Given the description of an element on the screen output the (x, y) to click on. 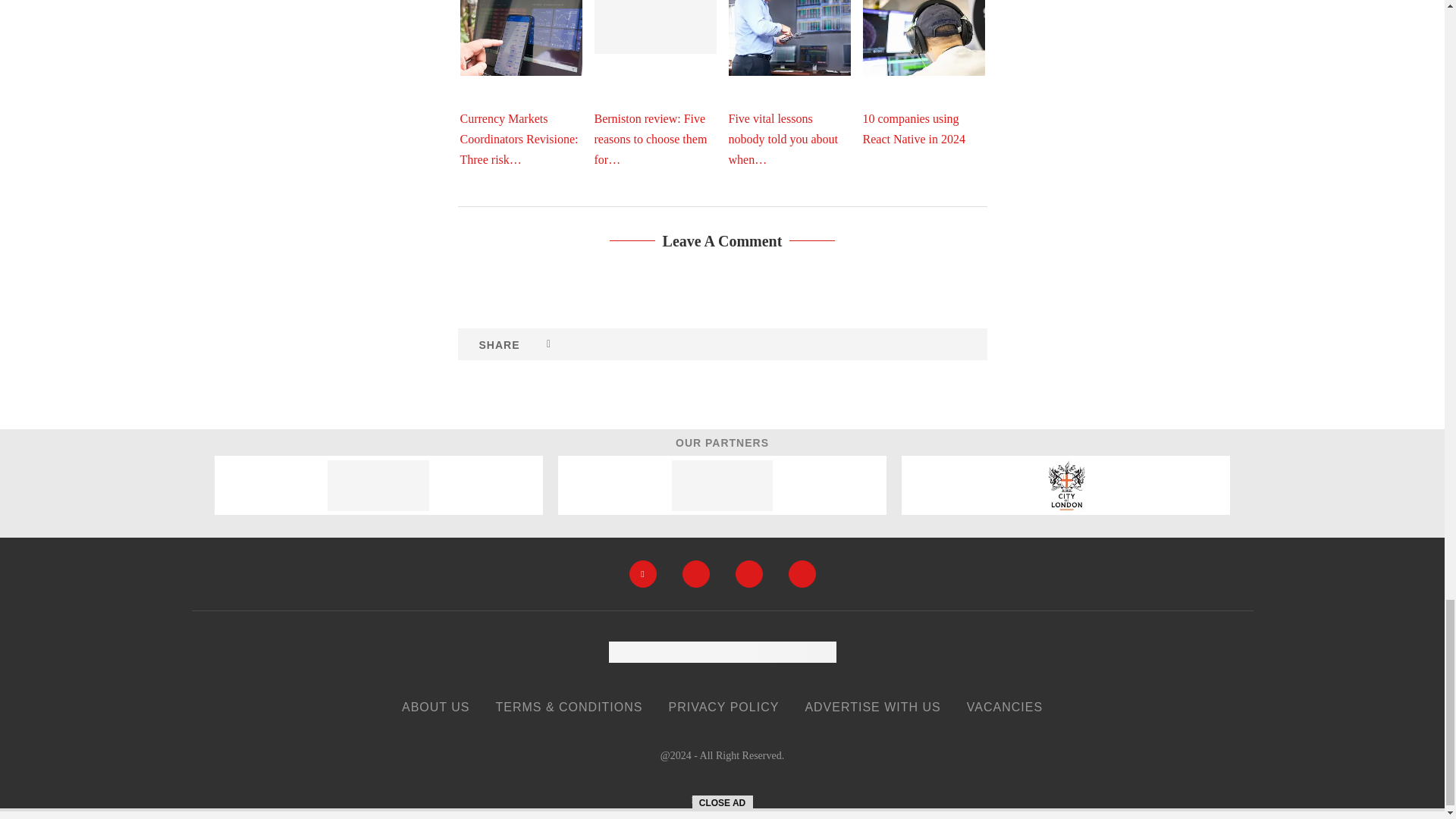
10 companies using React Native in 2024 (924, 38)
